Given the description of an element on the screen output the (x, y) to click on. 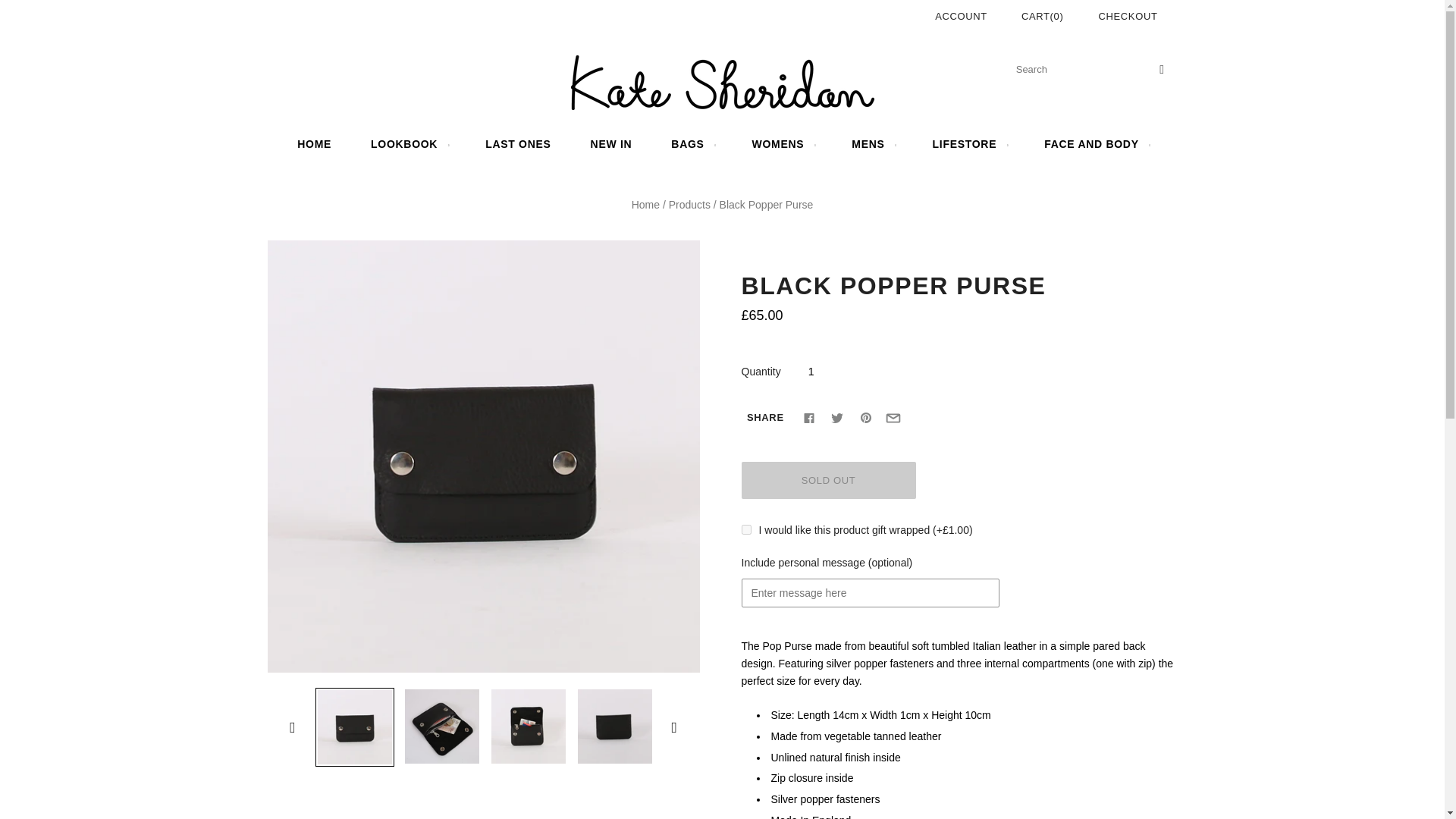
1 (811, 371)
LOOKBOOK (407, 144)
CHECKOUT (1127, 16)
NEW IN (611, 144)
BAGS (691, 144)
Sold out (828, 479)
ACCOUNT (960, 16)
LAST ONES (517, 144)
HOME (314, 144)
